Given the description of an element on the screen output the (x, y) to click on. 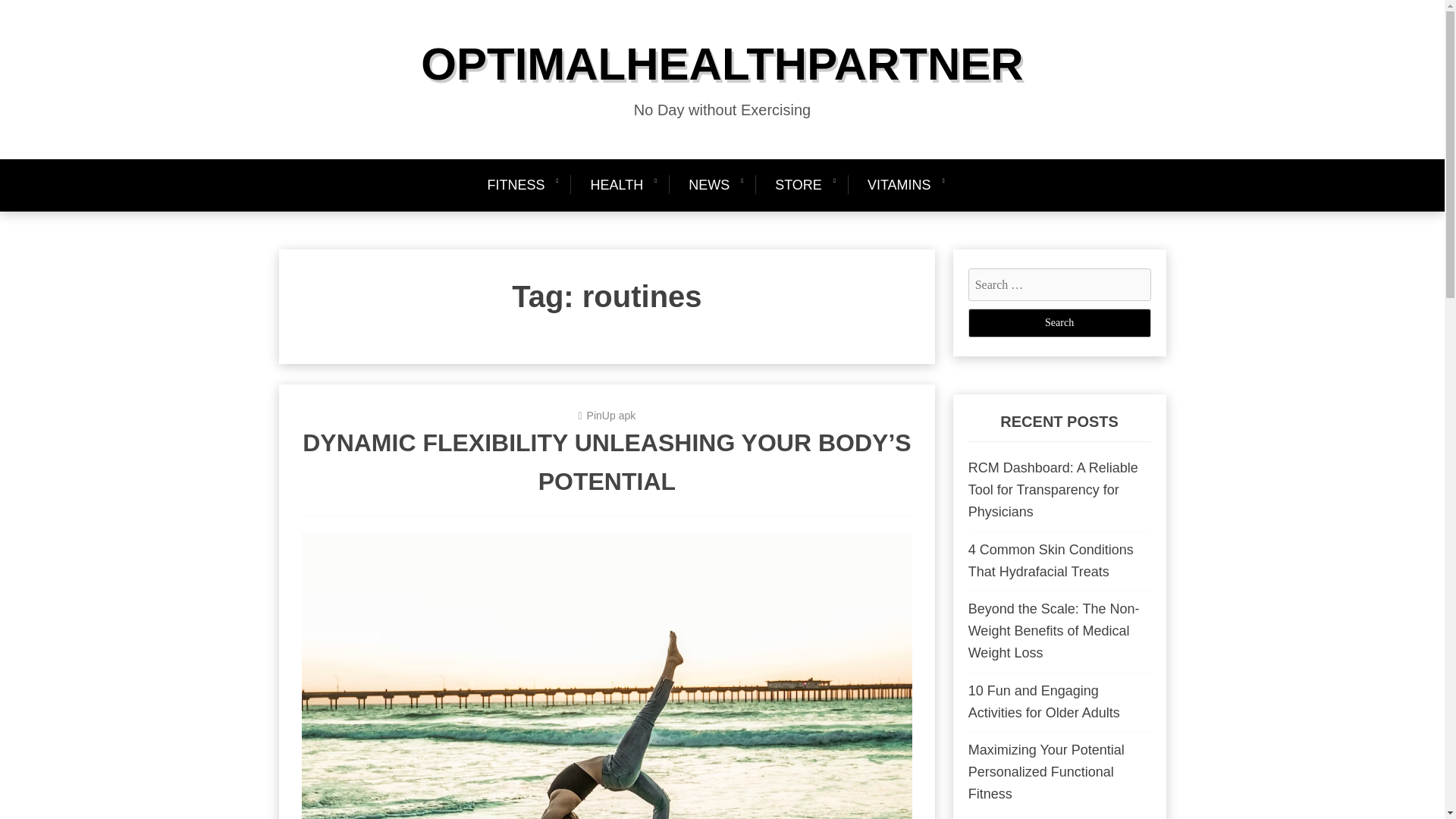
STORE (798, 184)
FITNESS (522, 184)
4 Common Skin Conditions That Hydrafacial Treats (1051, 560)
10 Fun and Engaging Activities for Older Adults (1043, 701)
Search (1059, 322)
NEWS (708, 184)
Maximizing Your Potential Personalized Functional Fitness (1046, 771)
Search (1059, 322)
PinUp apk (611, 415)
OPTIMALHEALTHPARTNER (721, 63)
HEALTH (616, 184)
VITAMINS (898, 184)
Search (1059, 322)
